Given the description of an element on the screen output the (x, y) to click on. 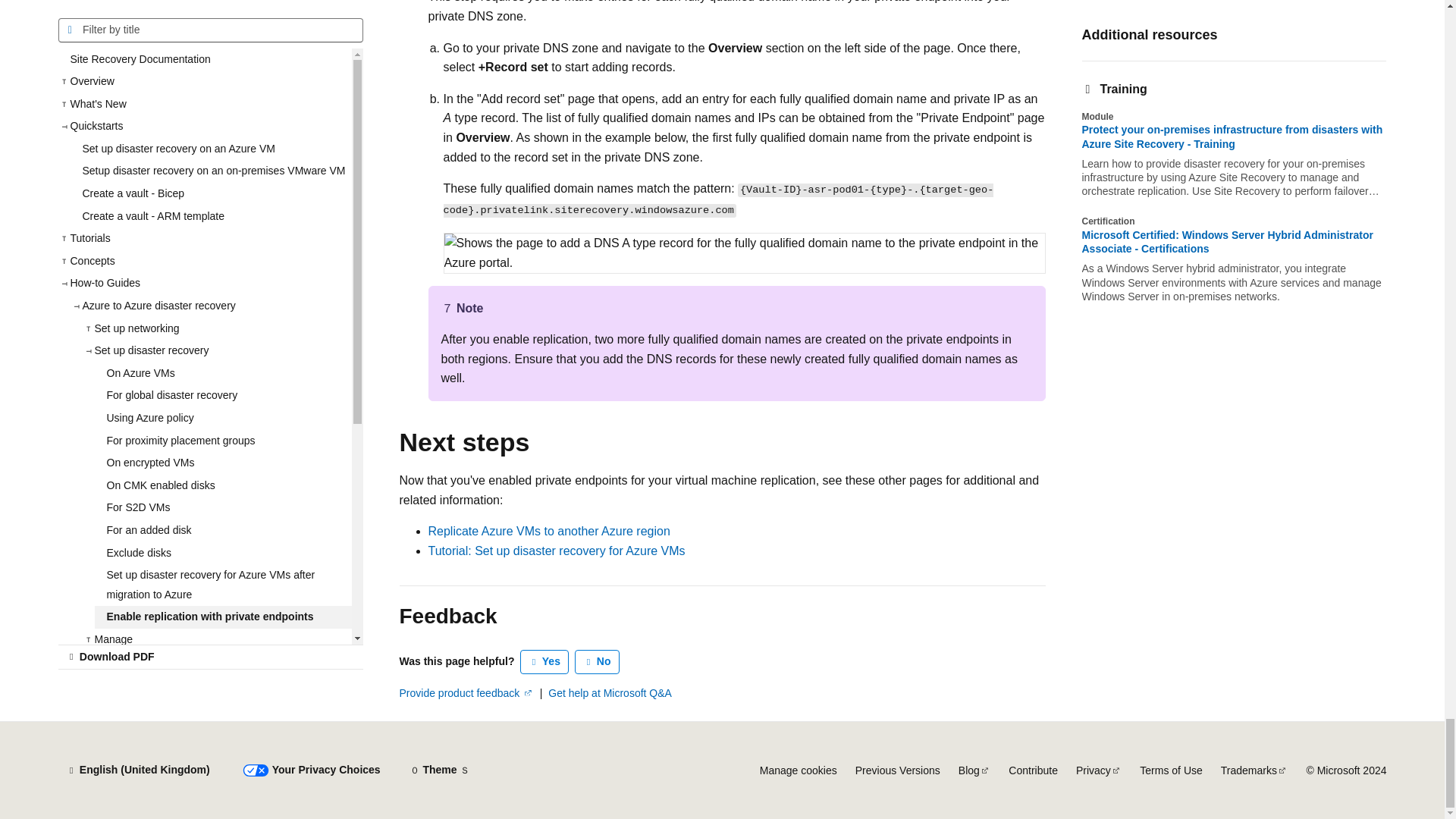
Theme (440, 770)
This article is not helpful (597, 662)
This article is helpful (544, 662)
